Given the description of an element on the screen output the (x, y) to click on. 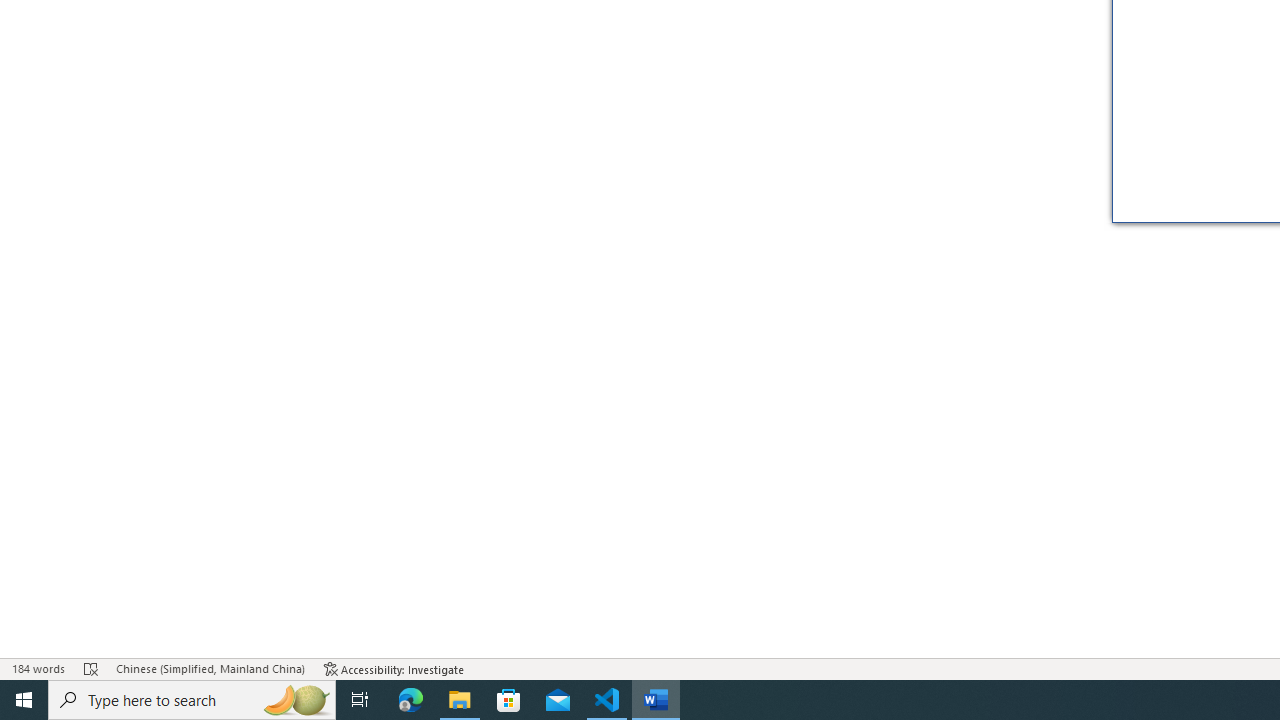
Word - 1 running window (656, 699)
Start (24, 699)
Spelling and Grammar Check Errors (91, 668)
File Explorer - 1 running window (460, 699)
Search highlights icon opens search home window (295, 699)
Microsoft Store (509, 699)
Accessibility Checker Accessibility: Investigate (394, 668)
Task View (359, 699)
Word Count 184 words (37, 668)
Language Chinese (Simplified, Mainland China) (210, 668)
Type here to search (191, 699)
Visual Studio Code - 1 running window (607, 699)
Microsoft Edge (411, 699)
